Given the description of an element on the screen output the (x, y) to click on. 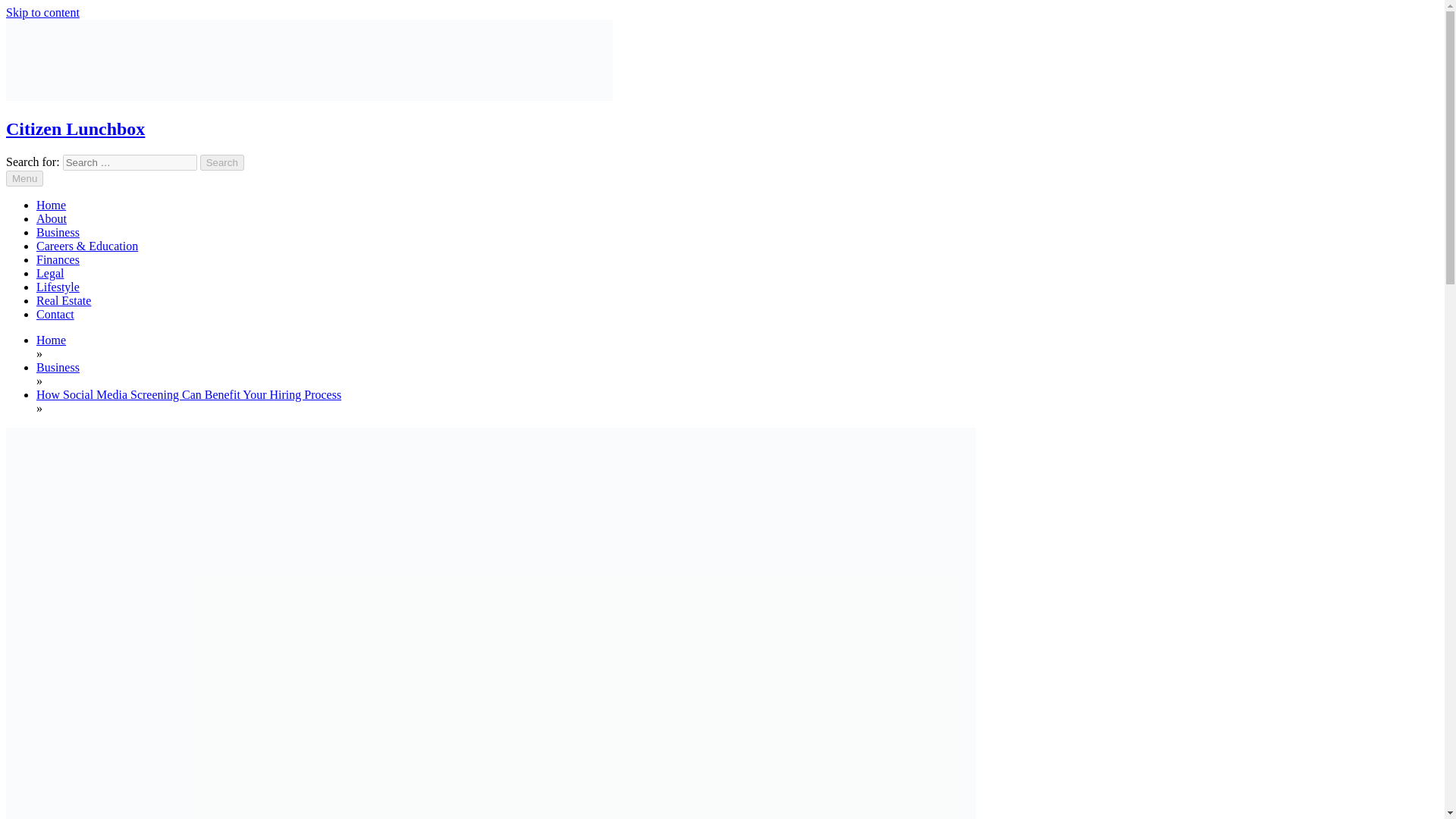
Search (222, 162)
Real Estate (63, 300)
Finances (58, 259)
Citizen Lunchbox (74, 128)
Business (58, 232)
Menu (24, 178)
Contact (55, 314)
Search (222, 162)
Business (58, 367)
Home (50, 205)
Search (222, 162)
Legal (50, 273)
Skip to content (42, 11)
How Social Media Screening Can Benefit Your Hiring Process (188, 394)
Home (50, 339)
